Given the description of an element on the screen output the (x, y) to click on. 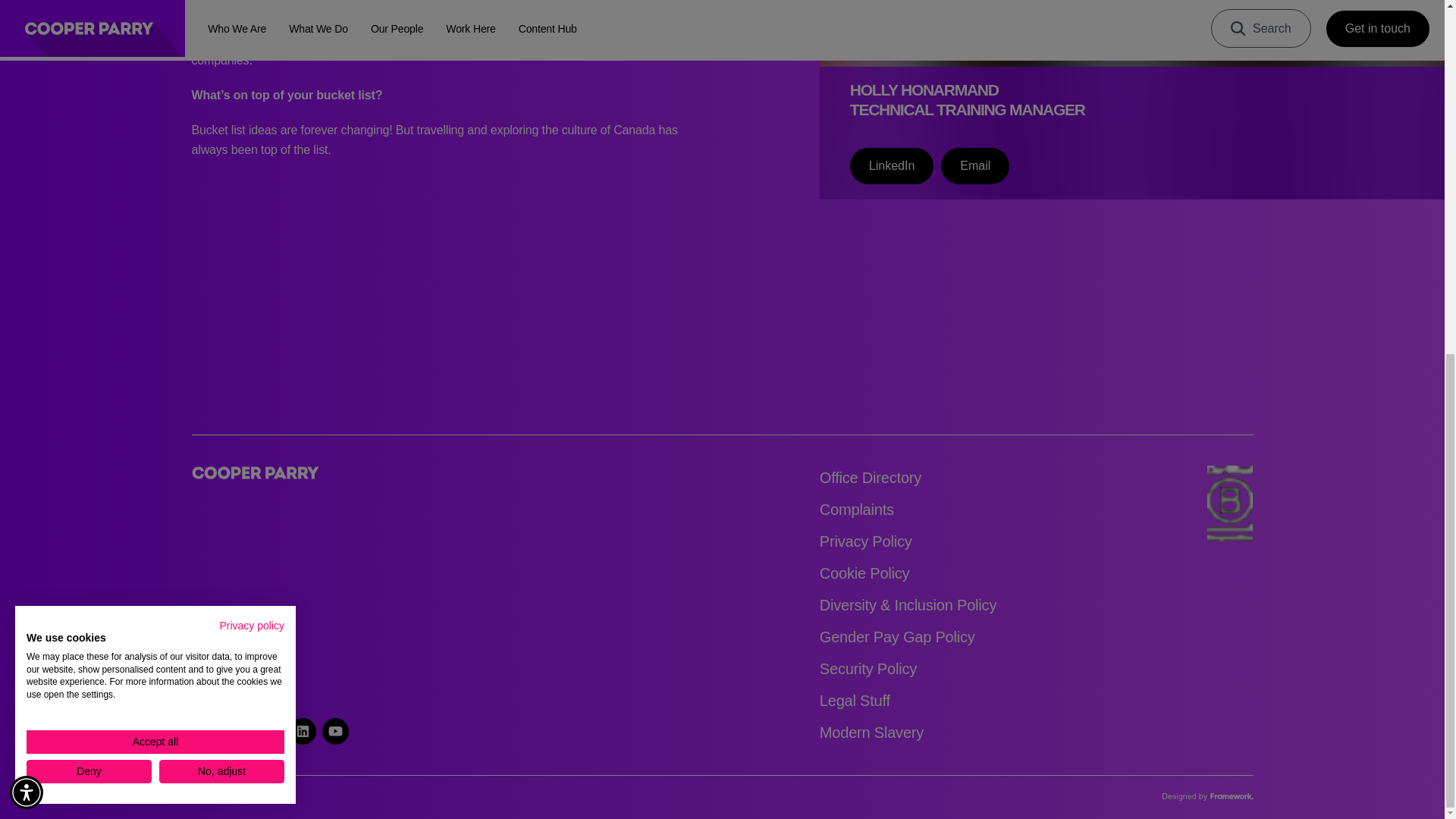
Accessibility Menu (26, 172)
